Given the description of an element on the screen output the (x, y) to click on. 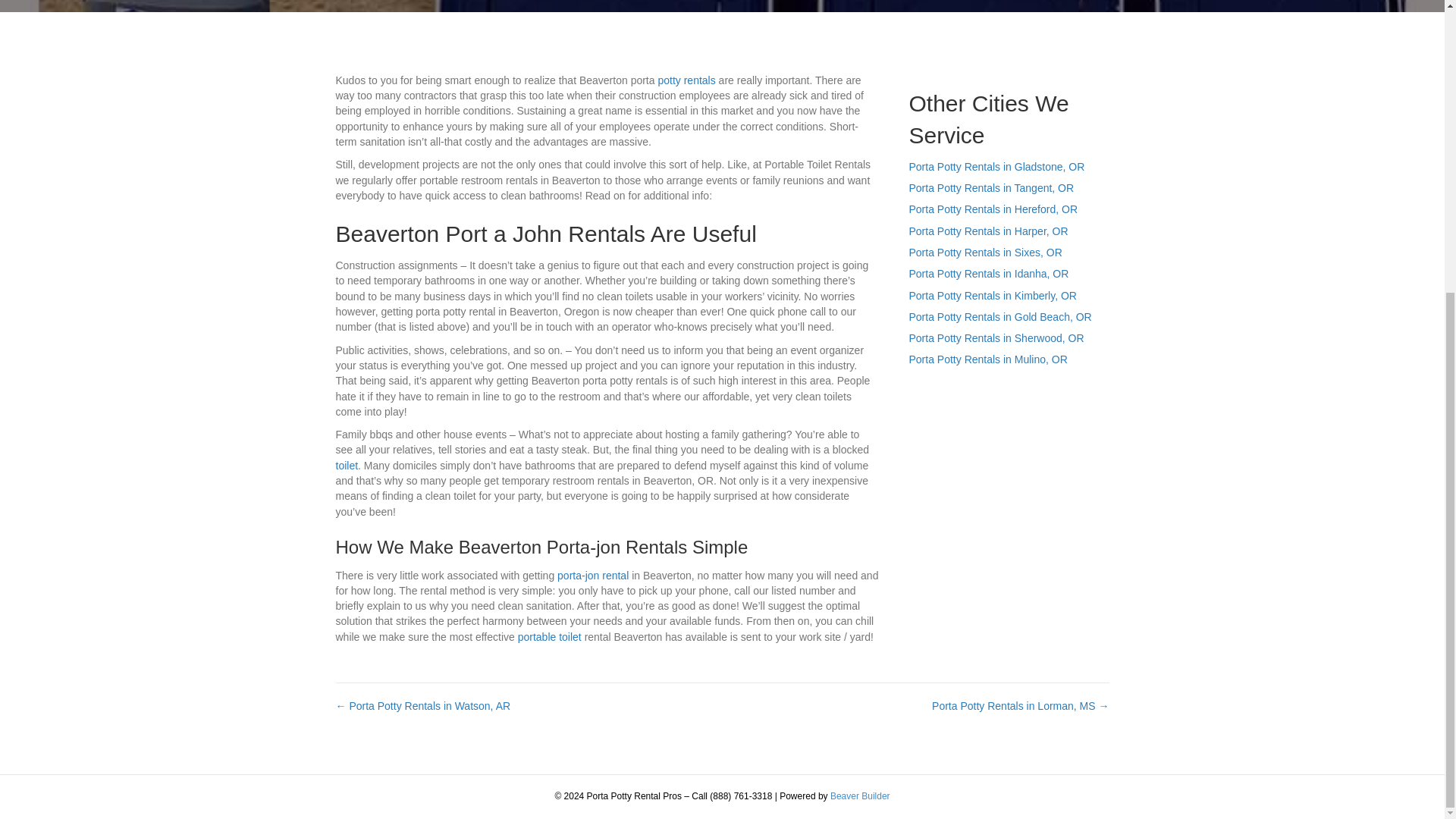
WordPress Page Builder Plugin (859, 796)
toilet (346, 465)
Porta Potty Rentals in Hereford, OR (992, 209)
Porta Potty Rentals in Sixes, OR (984, 252)
Porta Potty Rentals in Gladstone, OR (996, 166)
Porta Potty Rentals in Tangent, OR (991, 187)
Porta Potty Rentals in Gold Beach, OR (999, 316)
Porta Potty Rentals in Gladstone, OR (996, 166)
Porta Potty Rentals in Sixes, OR (984, 252)
Porta Potty Rentals in Idanha, OR (988, 273)
Porta Potty Rentals in Mulino, OR (987, 358)
Porta Potty Rentals in Sherwood, OR (995, 337)
Porta Potty Rentals in Idanha, OR (988, 273)
Porta Potty Rentals in Mulino, OR (987, 358)
Porta Potty Rentals in Harper, OR (987, 231)
